Given the description of an element on the screen output the (x, y) to click on. 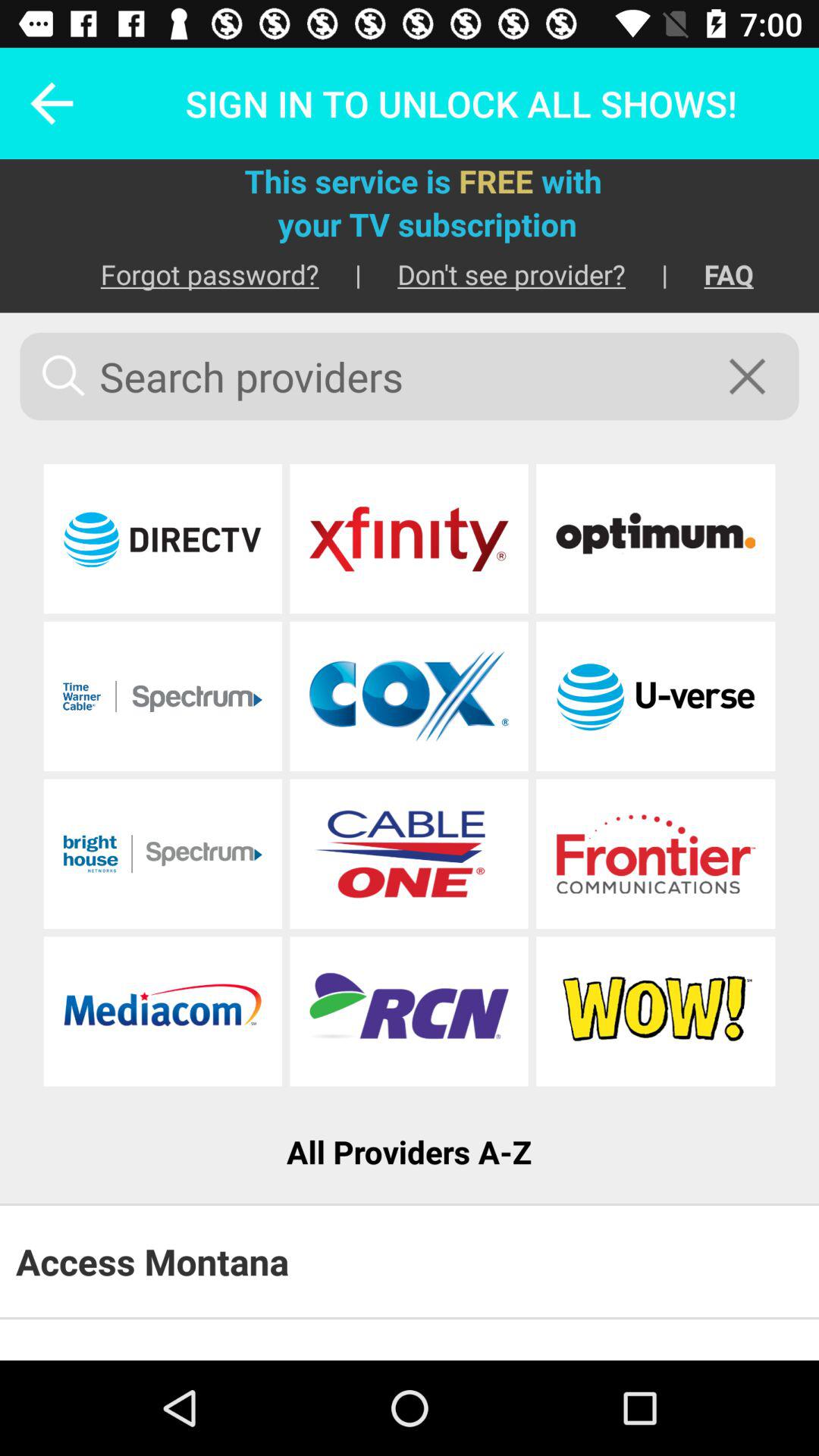
select result (655, 853)
